Given the description of an element on the screen output the (x, y) to click on. 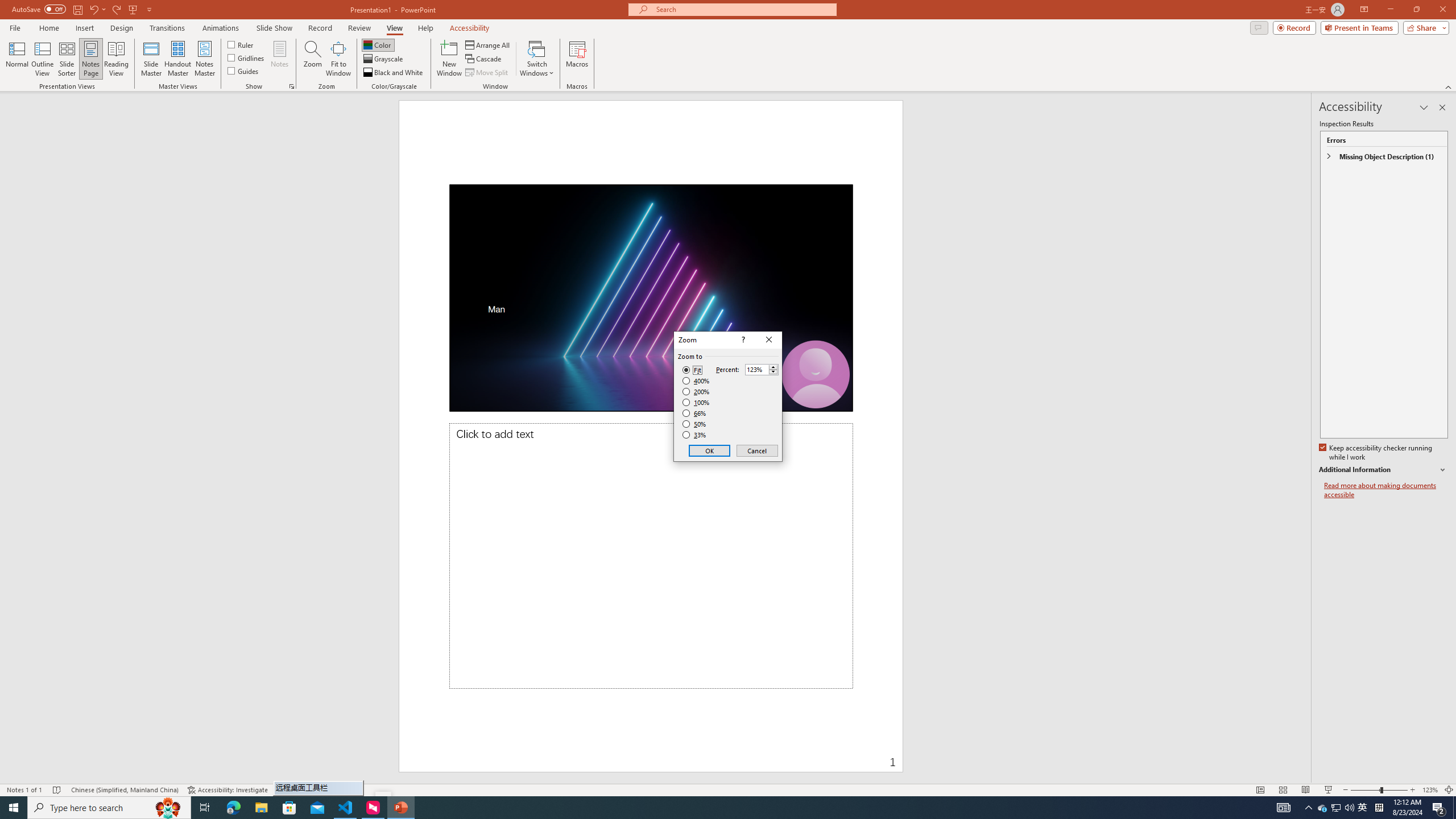
Context help (742, 339)
Percent (756, 369)
